Given the description of an element on the screen output the (x, y) to click on. 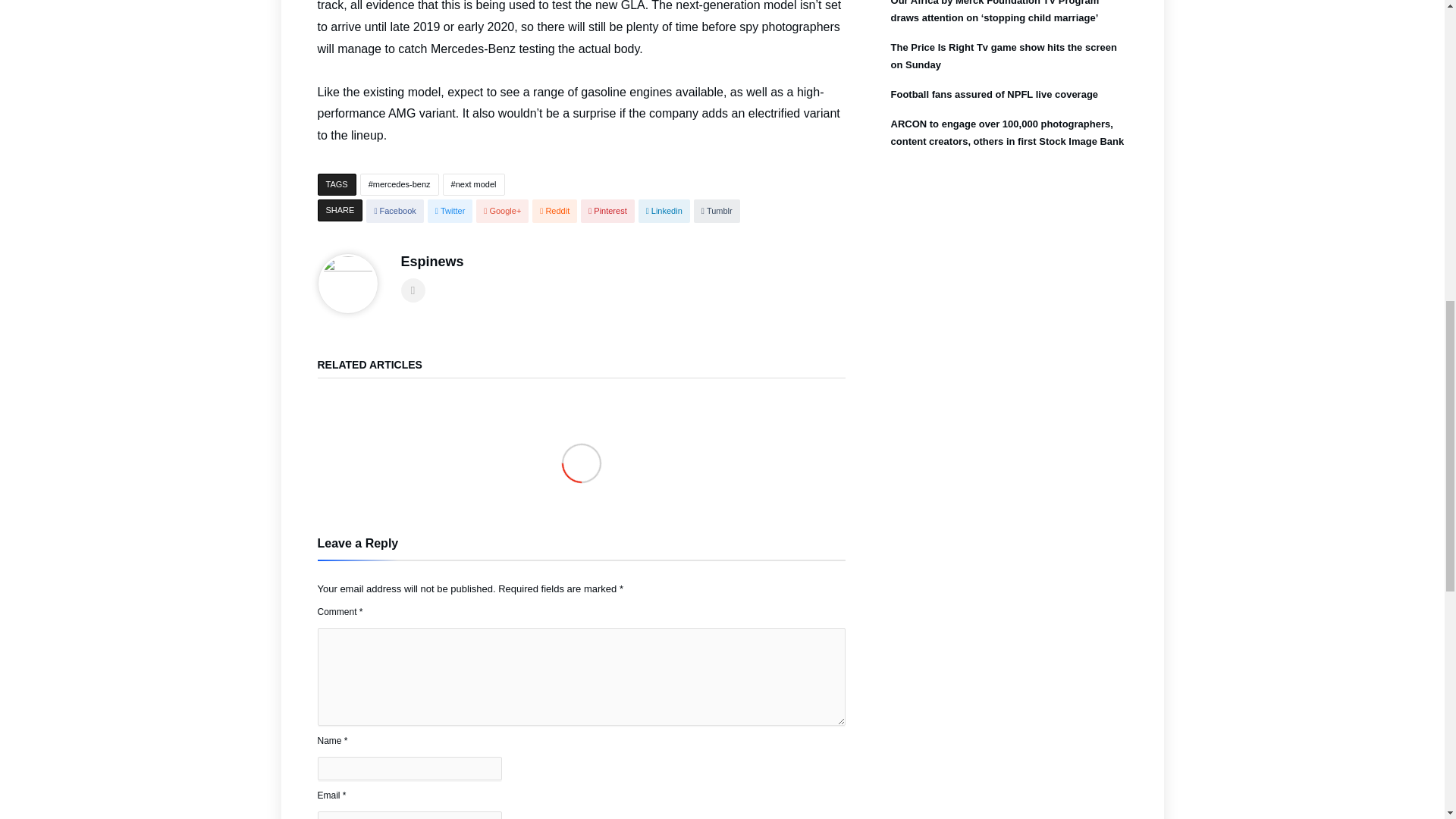
mercedes-benz (399, 184)
next model (473, 184)
reddit (554, 210)
google (502, 210)
Reddit (554, 210)
Twitter (450, 210)
facebook (394, 210)
tumblr (716, 210)
Espinews (431, 261)
twitter (450, 210)
